Given the description of an element on the screen output the (x, y) to click on. 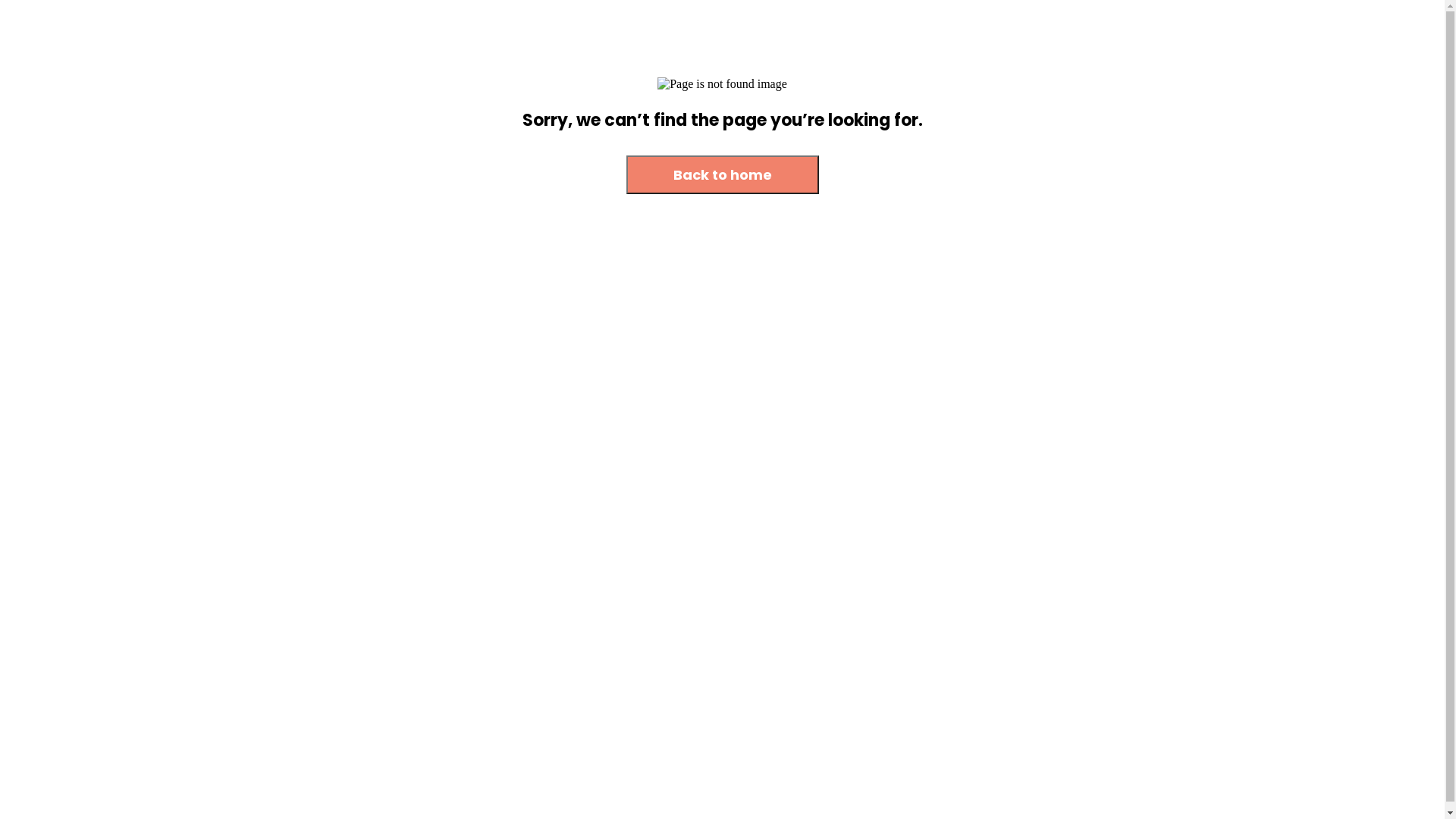
Back to home Element type: text (722, 175)
Back to home Element type: text (722, 174)
